Given the description of an element on the screen output the (x, y) to click on. 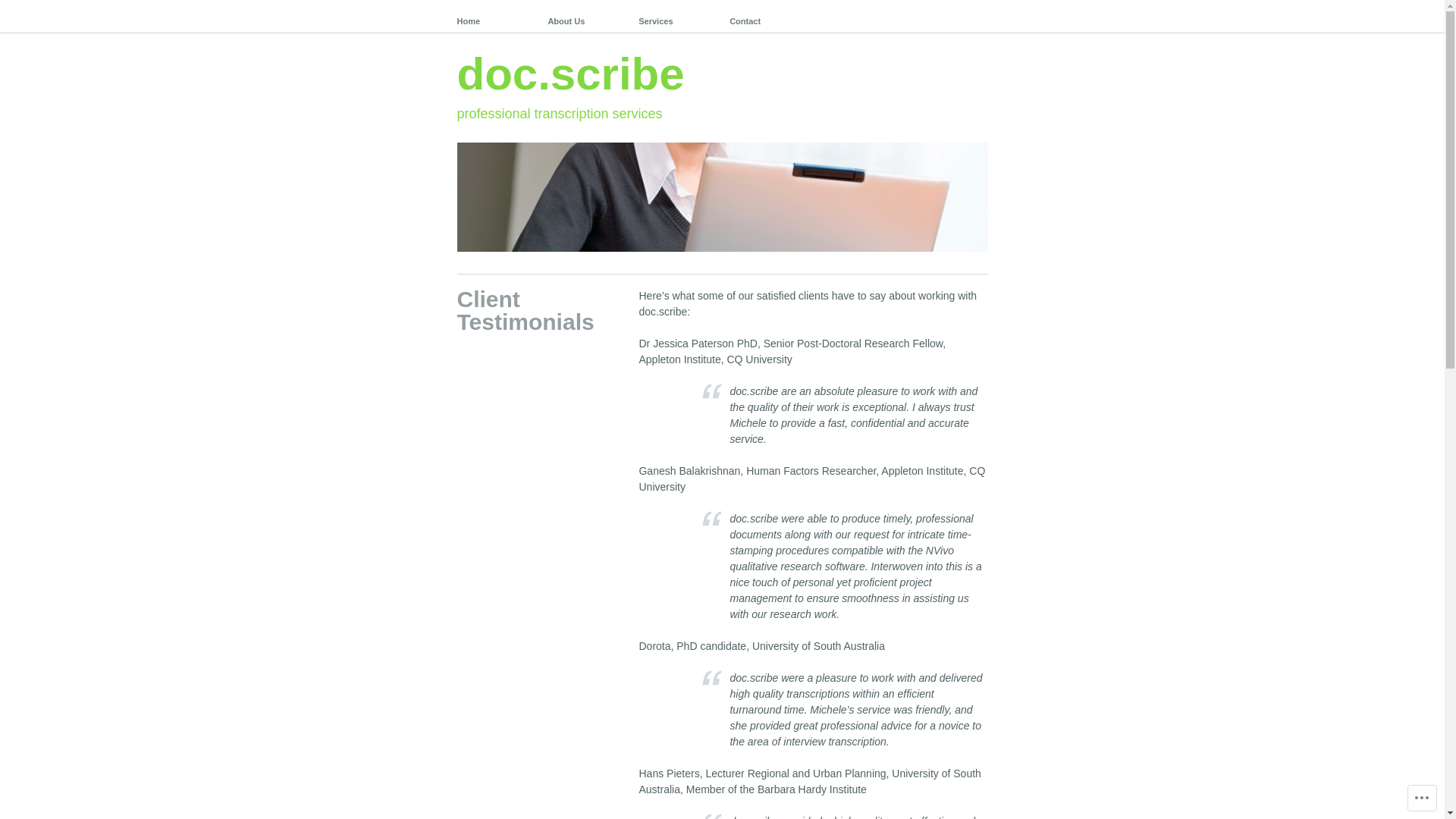
About Us Element type: text (585, 16)
doc.scribe Element type: text (570, 73)
Home Element type: text (494, 16)
Services Element type: text (676, 16)
Contact Element type: text (767, 16)
